Given the description of an element on the screen output the (x, y) to click on. 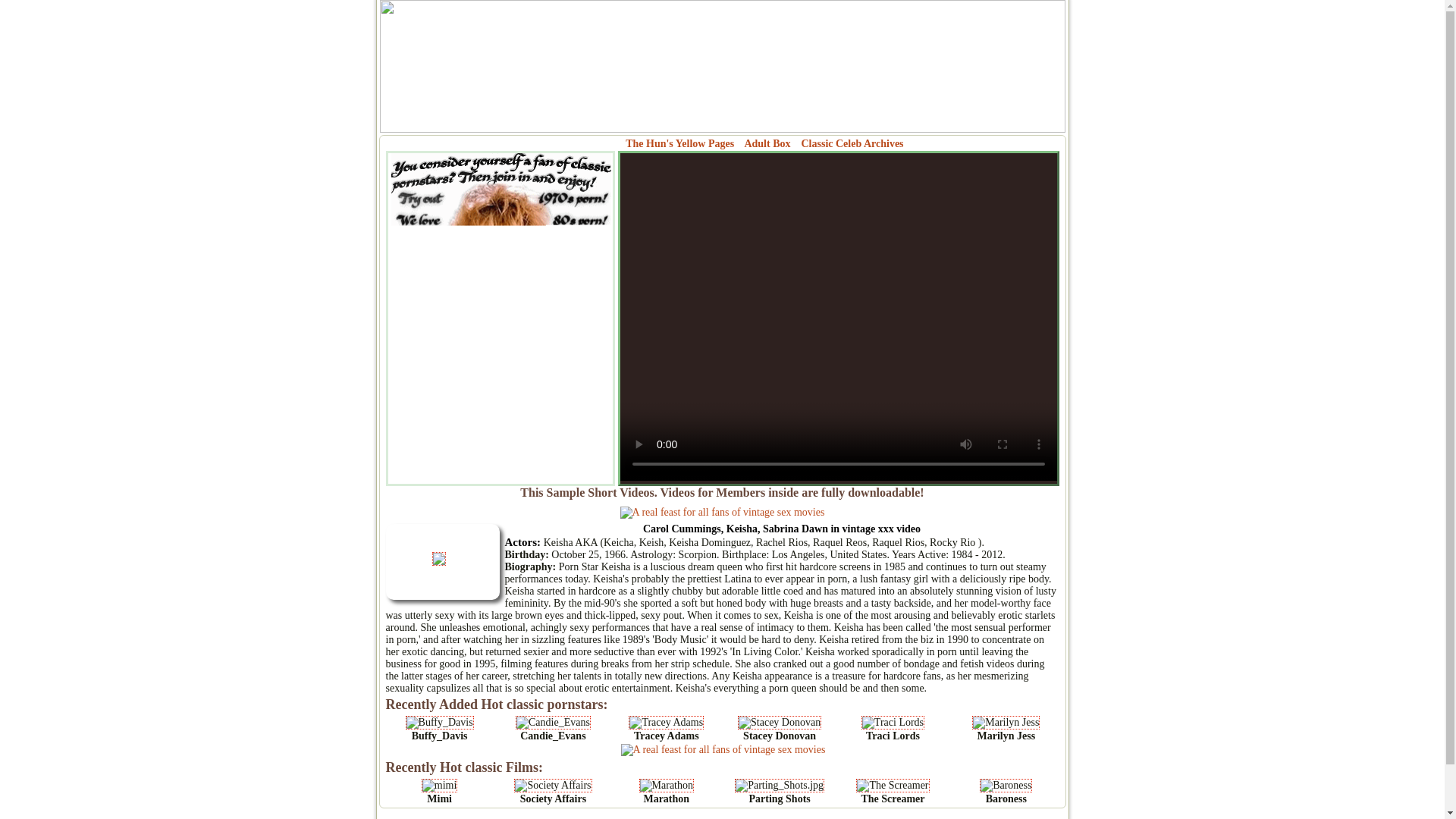
Adult Box (767, 143)
Classic Celeb Archives (851, 143)
The Hun's Yellow Pages (679, 143)
